Given the description of an element on the screen output the (x, y) to click on. 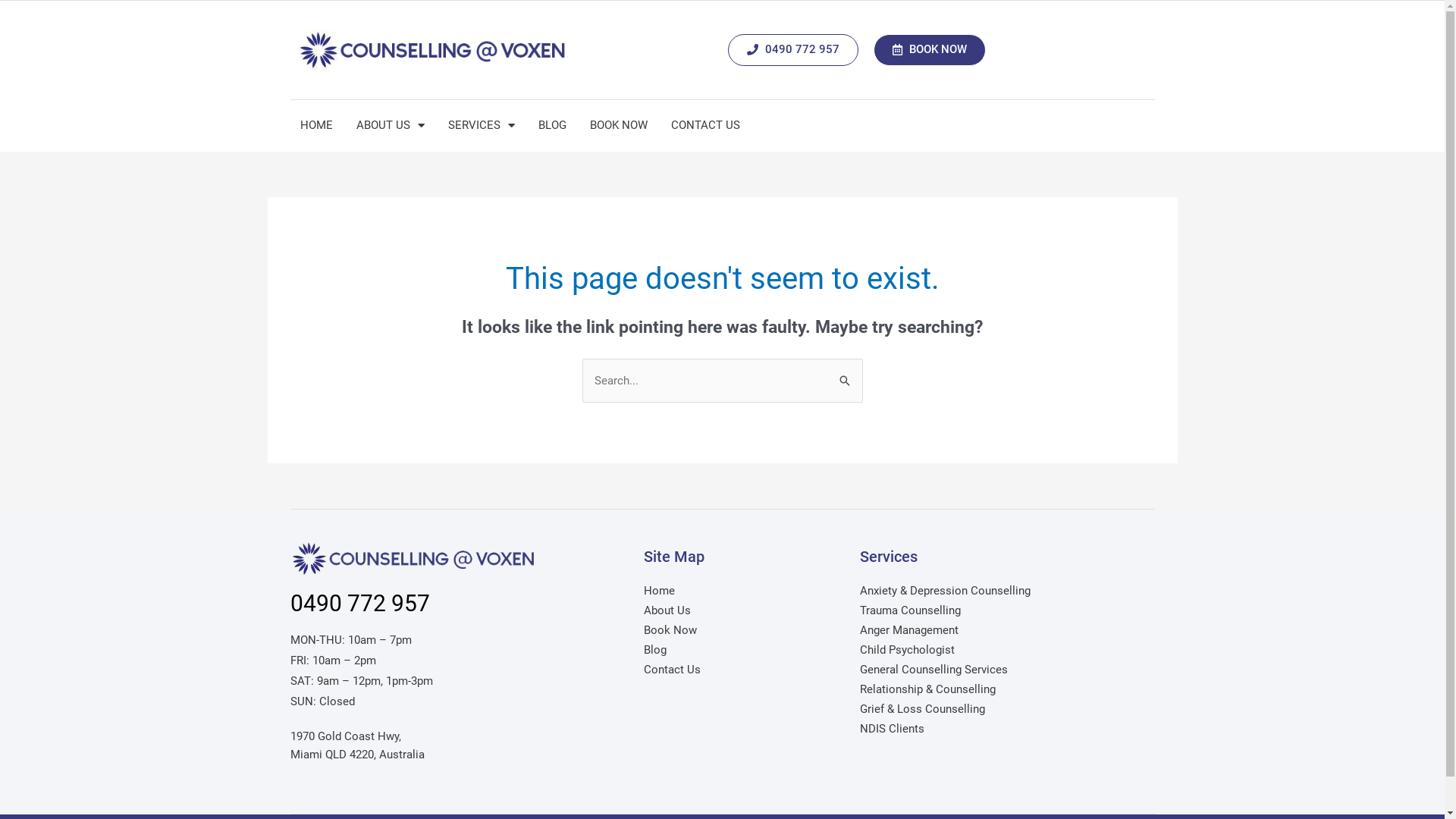
ABOUT US Element type: text (389, 124)
Grief & Loss Counselling Element type: text (1001, 708)
BLOG Element type: text (551, 124)
0490 772 957 Element type: text (359, 602)
CONTACT US Element type: text (705, 124)
SERVICES Element type: text (481, 124)
Anxiety & Depression Counselling Element type: text (1001, 590)
Child Psychologist Element type: text (1001, 649)
HOME Element type: text (315, 124)
BOOK NOW Element type: text (929, 49)
Anger Management Element type: text (1001, 630)
Blog Element type: text (743, 649)
Trauma Counselling Element type: text (1001, 610)
BOOK NOW Element type: text (617, 124)
NDIS Clients Element type: text (1001, 728)
Contact Us Element type: text (743, 669)
Book Now Element type: text (743, 630)
Search Element type: text (845, 373)
General Counselling Services Element type: text (1001, 669)
About Us Element type: text (743, 610)
Home Element type: text (743, 590)
0490 772 957 Element type: text (793, 49)
Relationship & Counselling Element type: text (1001, 689)
